Given the description of an element on the screen output the (x, y) to click on. 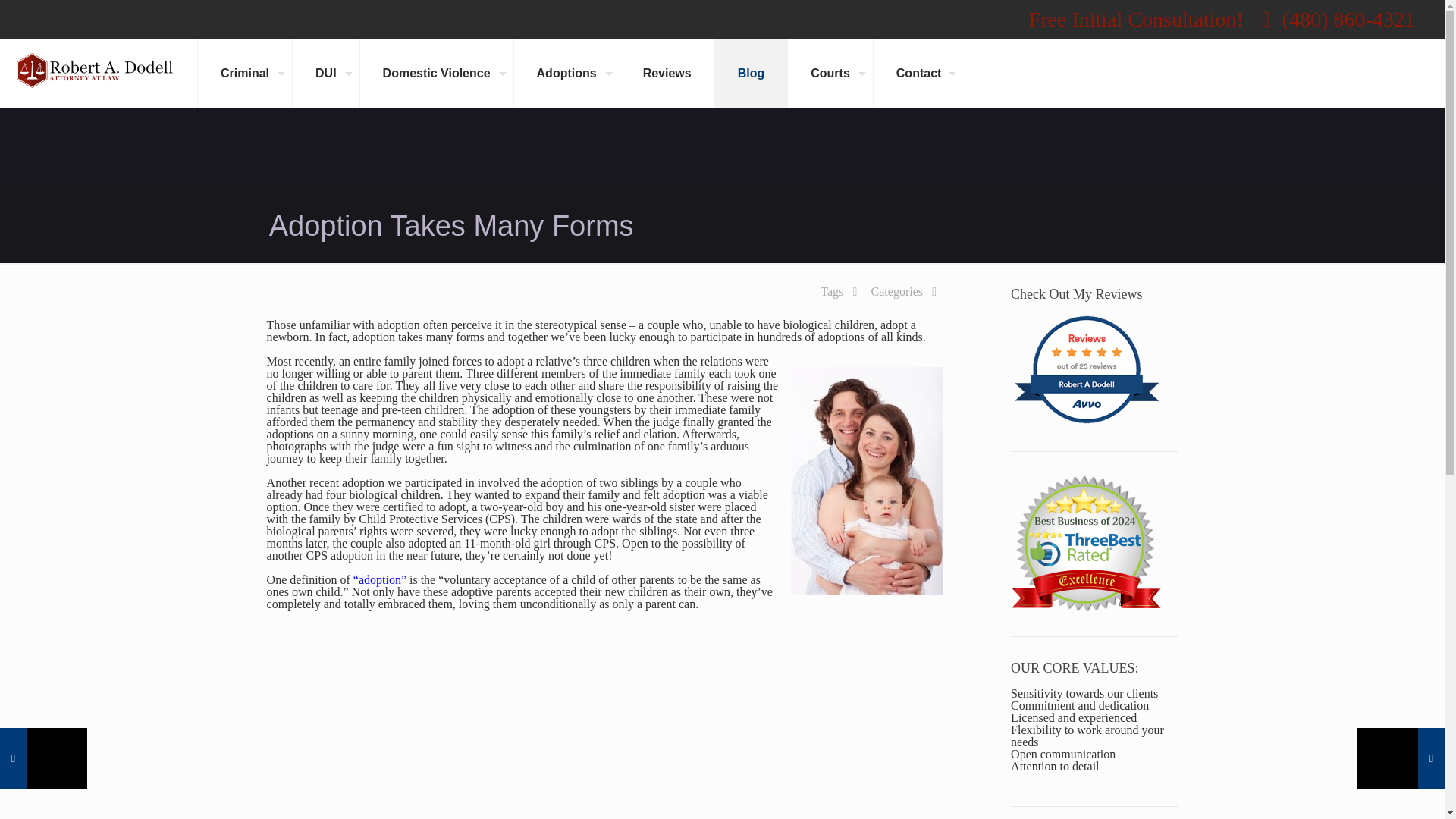
Criminal (244, 73)
Domestic Violence (436, 73)
Adoptions (566, 73)
DUI (325, 73)
